Given the description of an element on the screen output the (x, y) to click on. 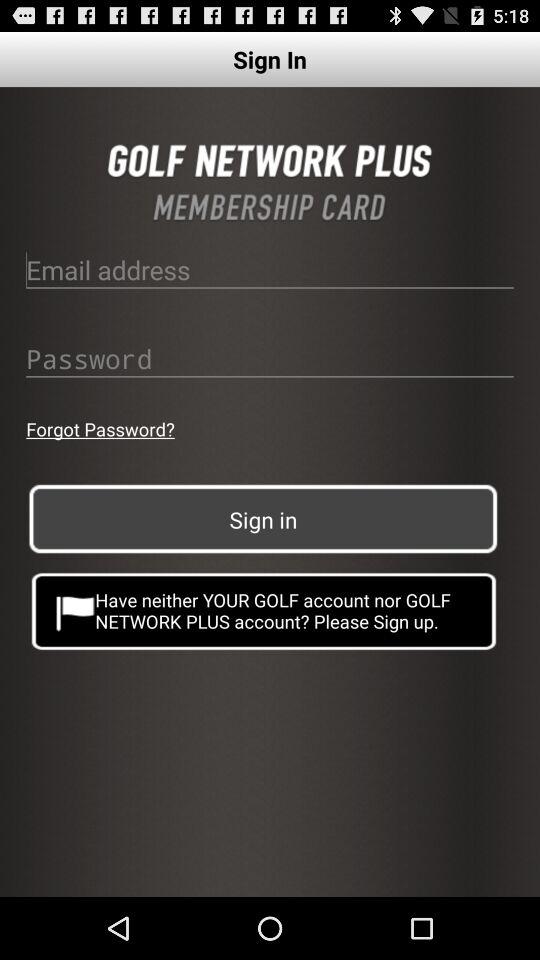
enter password (269, 357)
